Given the description of an element on the screen output the (x, y) to click on. 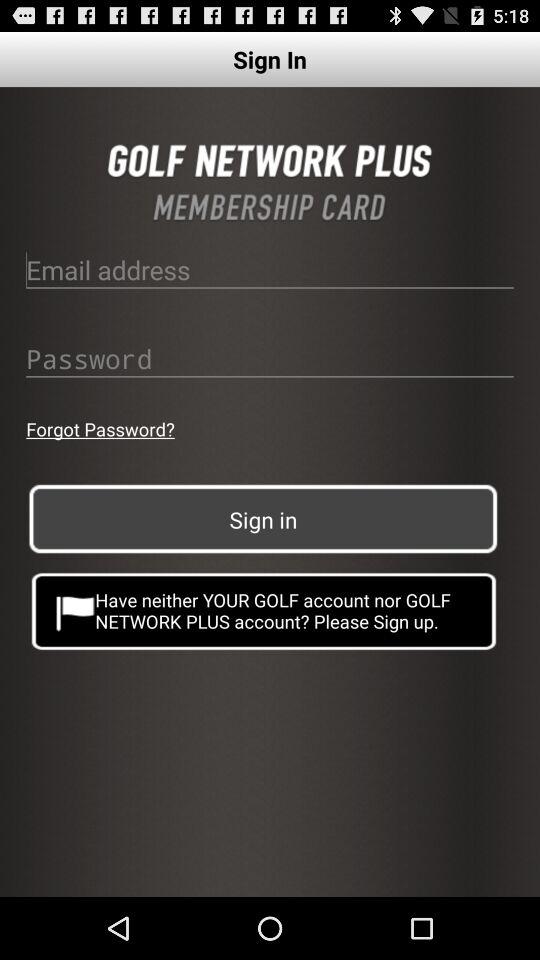
enter password (269, 357)
